Given the description of an element on the screen output the (x, y) to click on. 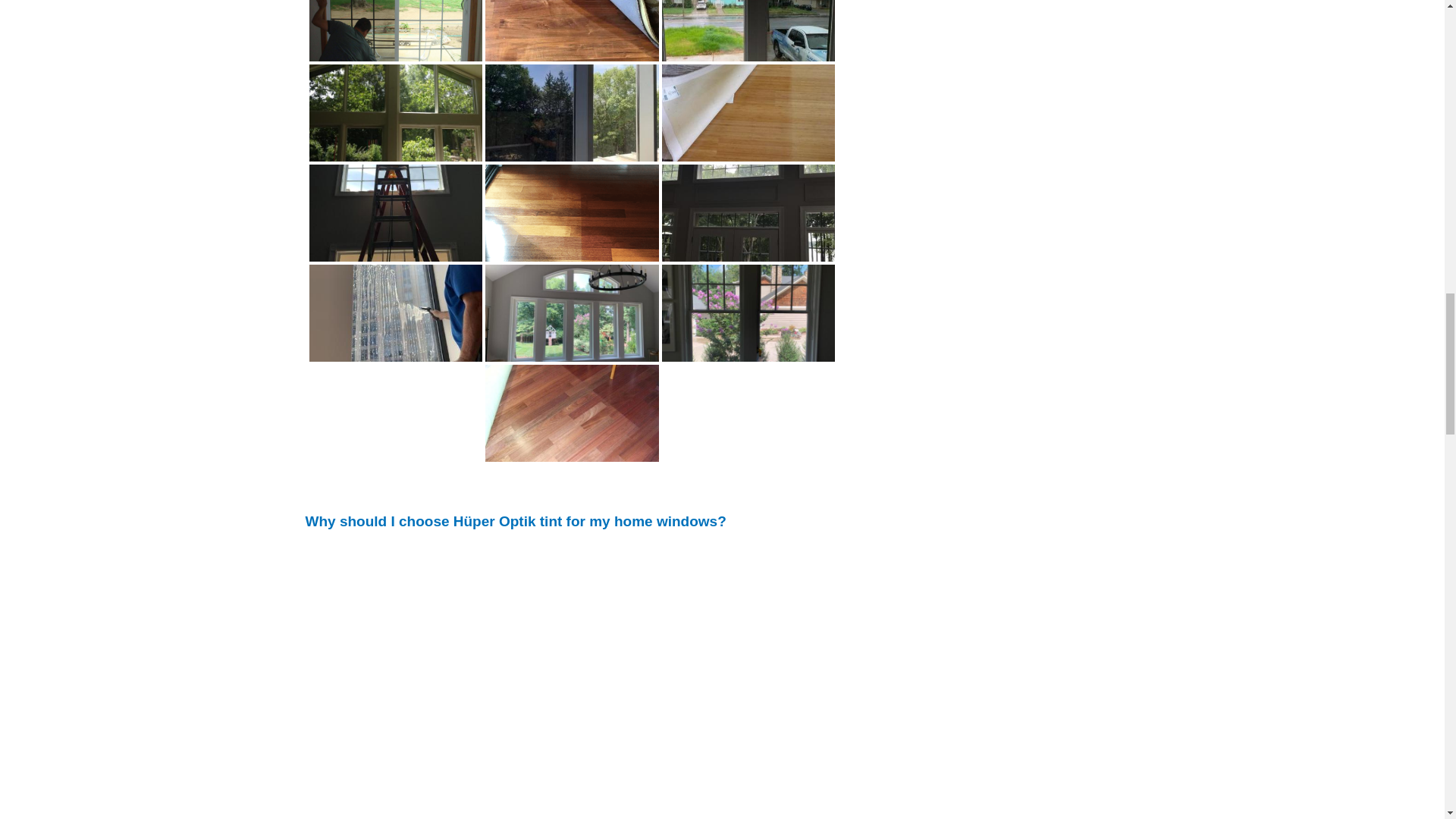
Protect Your Floors (572, 30)
Left YES, Right NO (395, 112)
Overcast Protection (748, 64)
Left YEP, Right NOPE (395, 58)
